Given the description of an element on the screen output the (x, y) to click on. 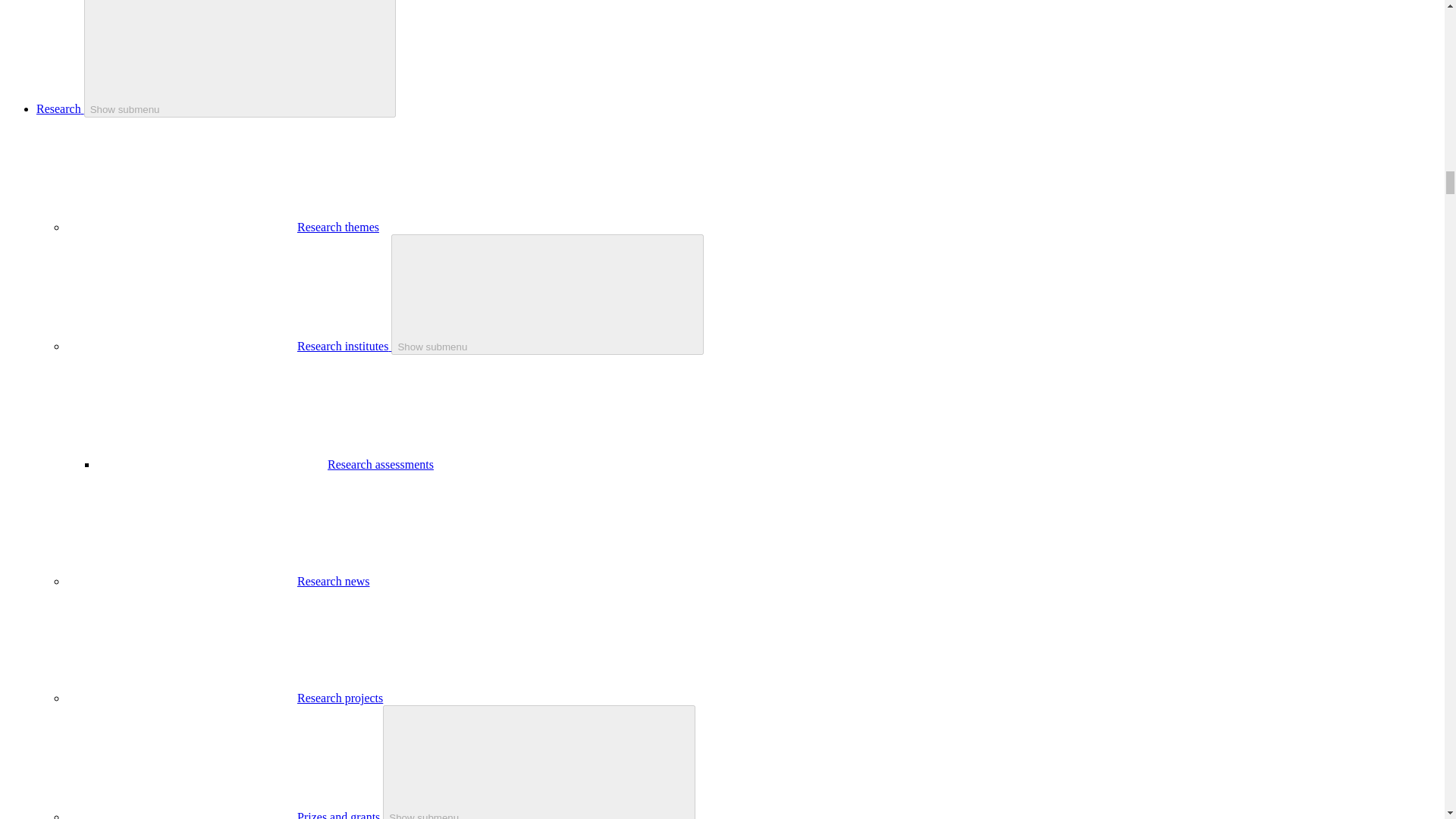
Assessment and visitation reports for research (380, 463)
Research projects (339, 697)
